Given the description of an element on the screen output the (x, y) to click on. 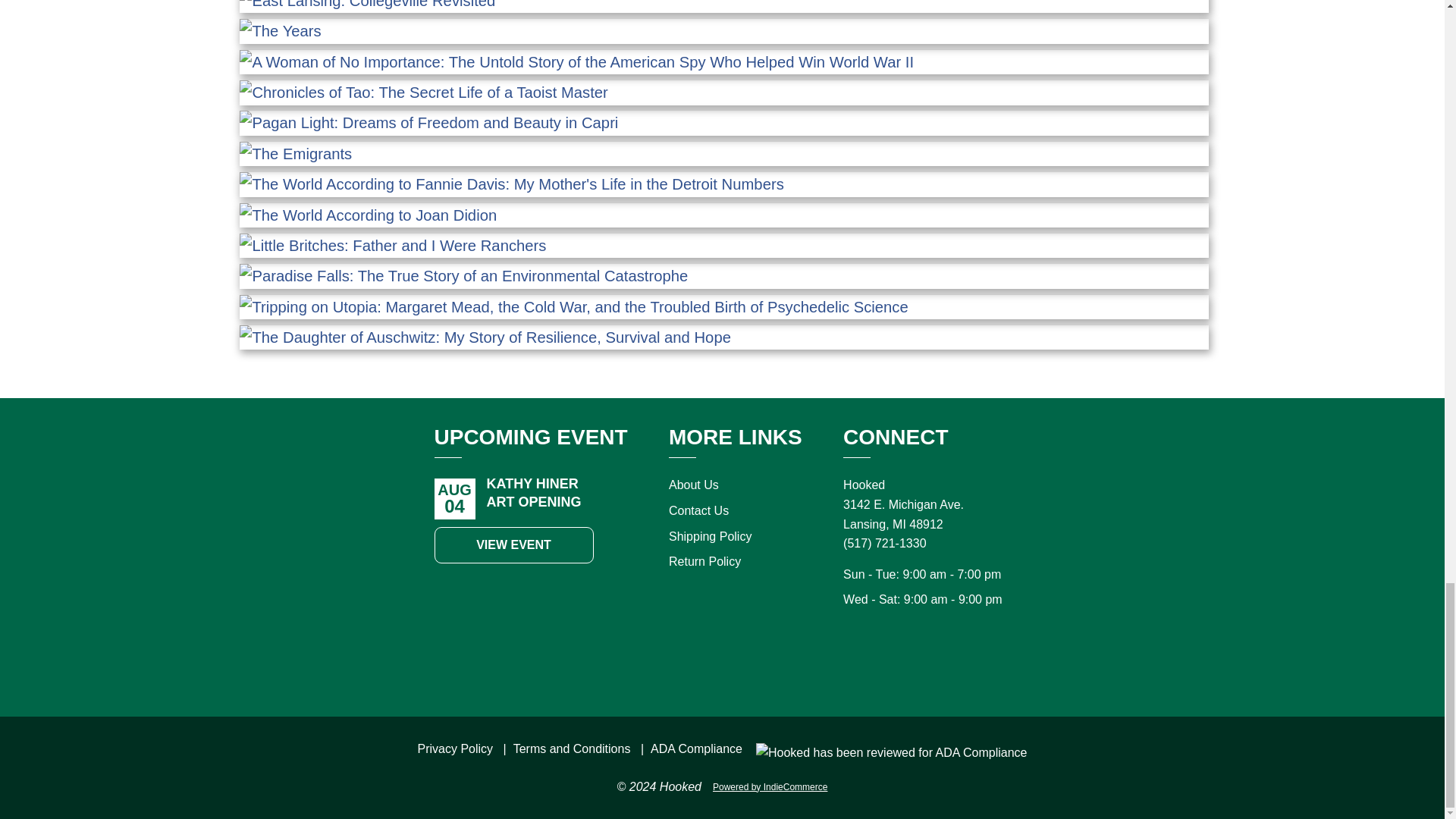
Connect with Instagram (909, 663)
Connect with Twitter (943, 663)
Connect with Facebook (876, 663)
Connect with Youtube Channel (976, 663)
